Given the description of an element on the screen output the (x, y) to click on. 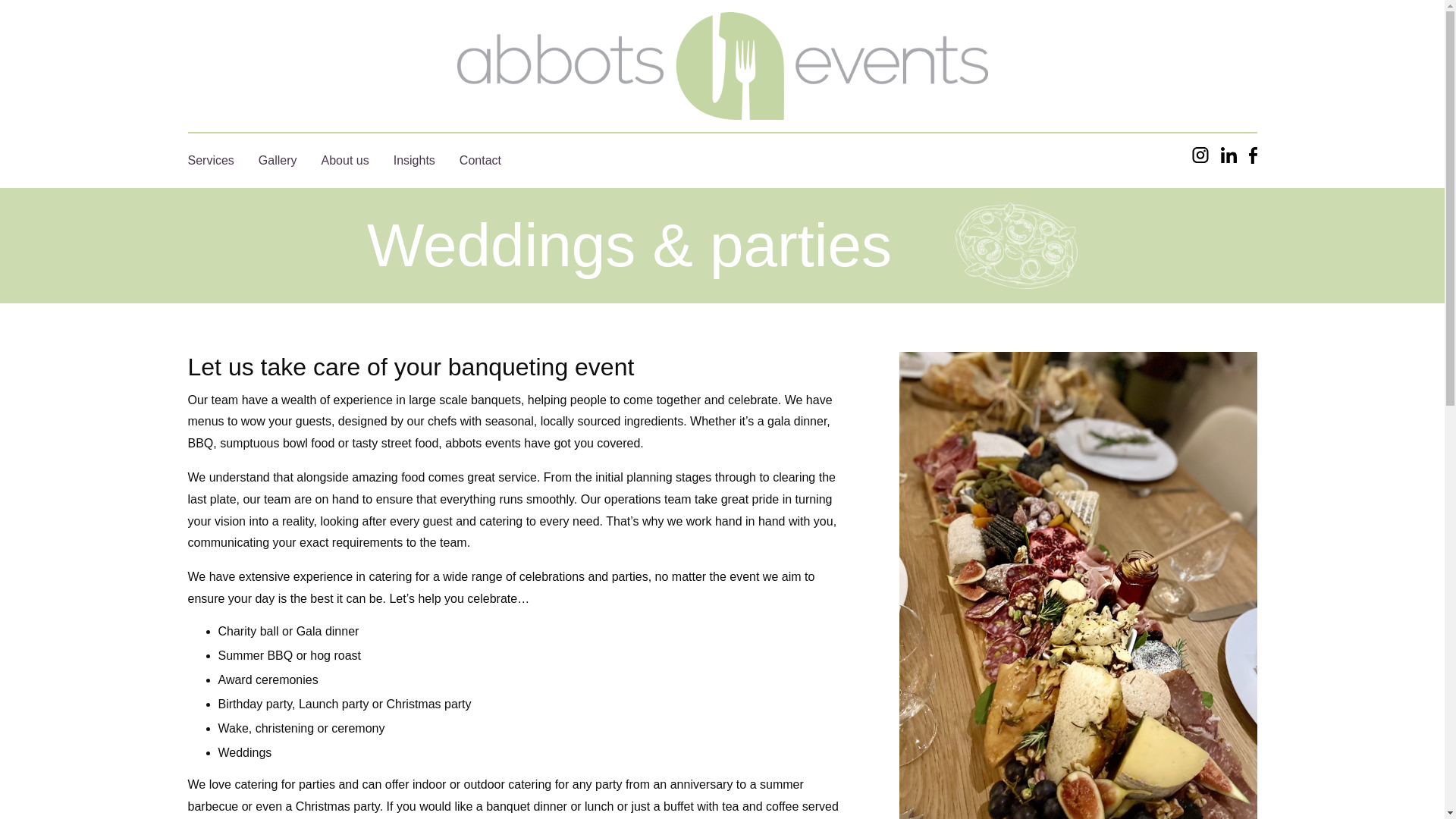
Contact (480, 160)
About us (345, 160)
Weddings-header (1014, 245)
Insights (414, 160)
logo (722, 65)
Services (210, 160)
Gallery (278, 160)
logo (722, 65)
